Given the description of an element on the screen output the (x, y) to click on. 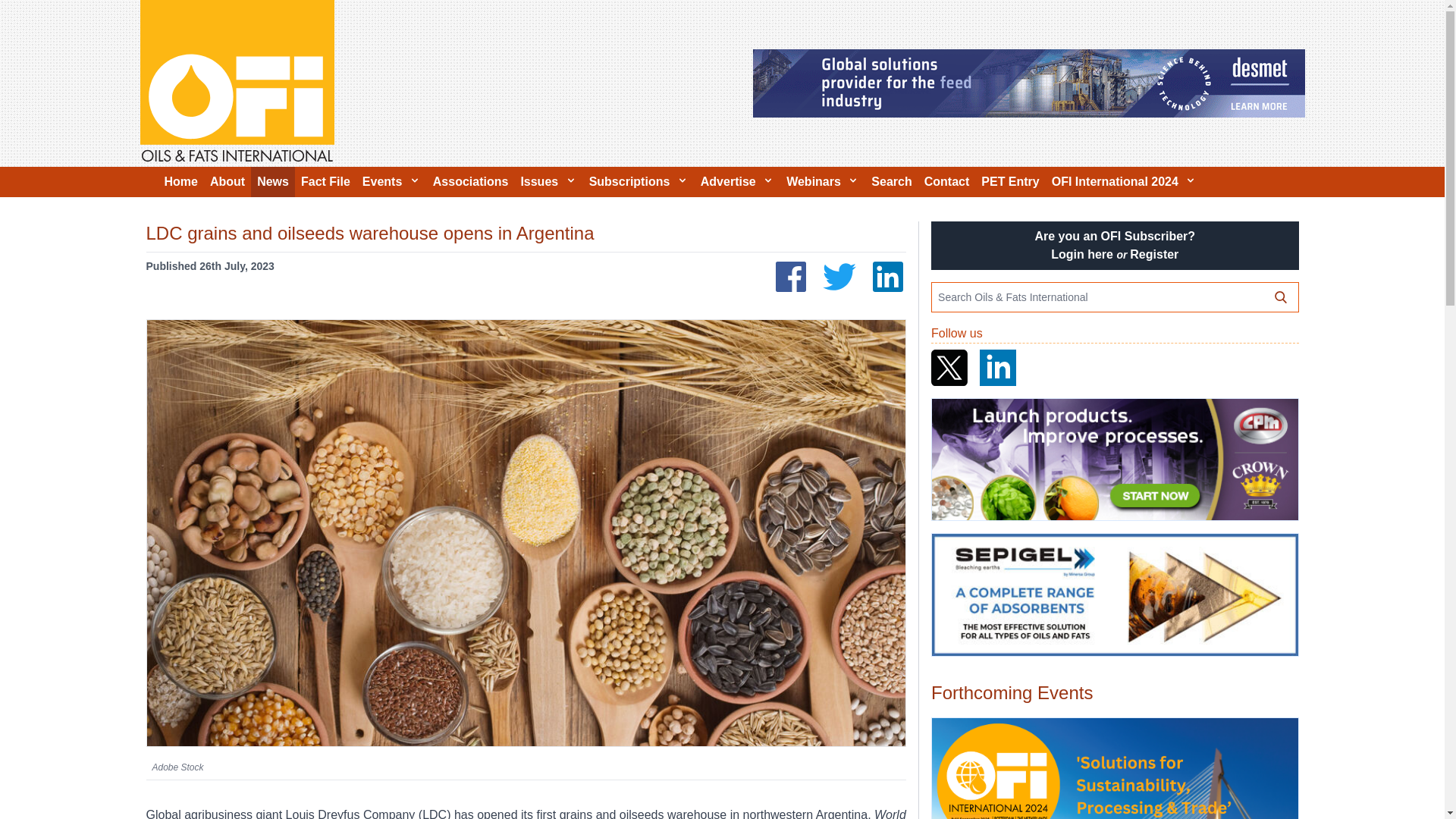
Share on Twitter (839, 276)
Sepigel 2024 (1114, 594)
OFI International 2024 (1124, 182)
About (226, 182)
Fact File (325, 182)
Share on LinkedIn (887, 276)
Search (890, 182)
News (272, 182)
Subscriptions (638, 182)
Associations (470, 182)
Advertise (737, 182)
Share on Facebook (791, 276)
Events (391, 182)
Home (180, 182)
PET Entry (1010, 182)
